Given the description of an element on the screen output the (x, y) to click on. 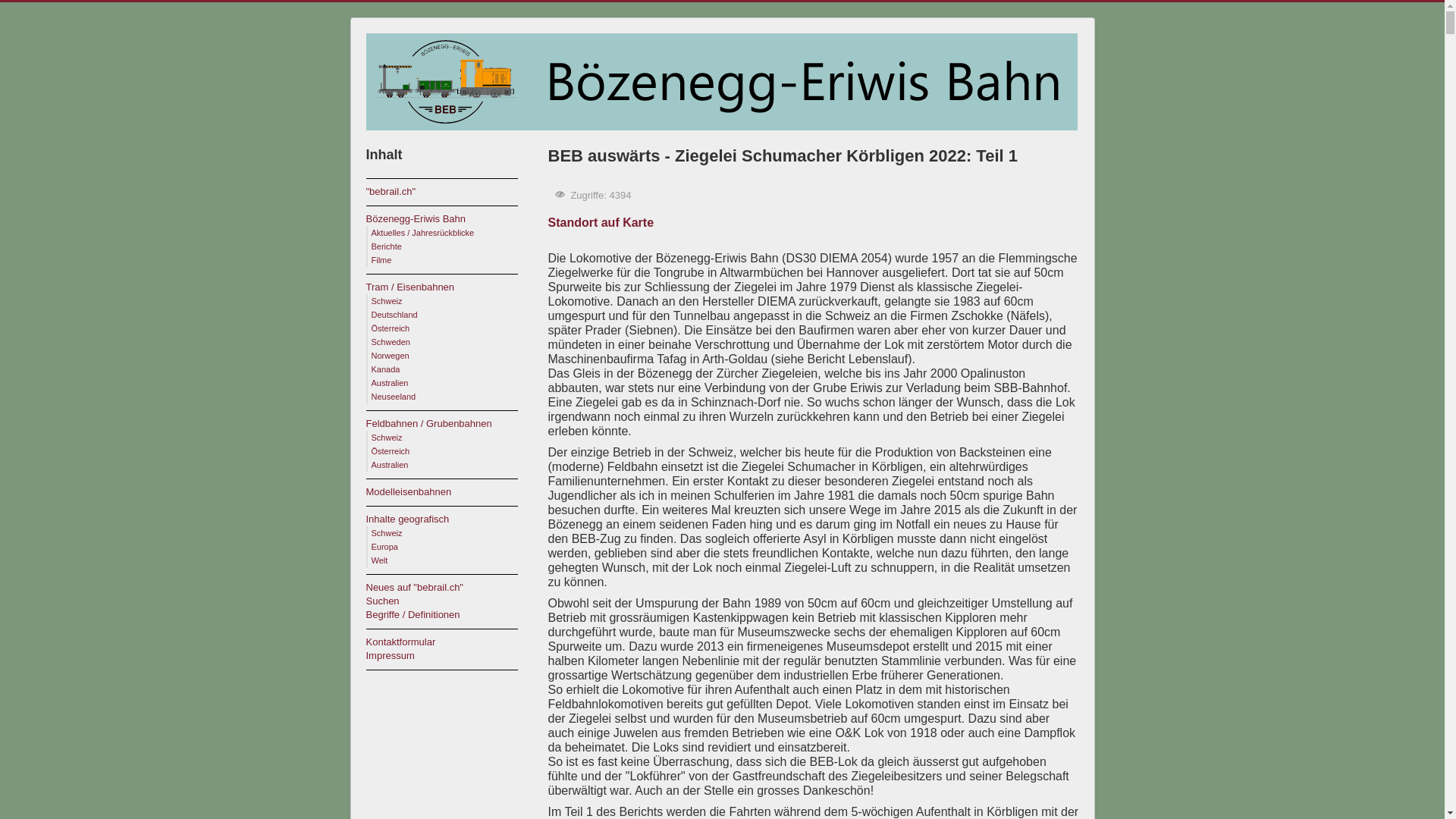
"bebrail.ch" Element type: text (448, 191)
Standort auf Karte Element type: text (600, 222)
Modelleisenbahnen Element type: text (448, 491)
Berichte Element type: text (386, 246)
Neuseeland Element type: text (393, 396)
Deutschland Element type: text (394, 314)
Filme Element type: text (381, 259)
Norwegen Element type: text (390, 355)
Schweden Element type: text (390, 341)
Begriffe / Definitionen Element type: text (448, 614)
Feldbahnen / Grubenbahnen Element type: text (448, 423)
Neues auf "bebrail.ch" Element type: text (448, 587)
Schweiz Element type: text (386, 300)
Australien Element type: text (389, 382)
Welt Element type: text (379, 559)
Impressum Element type: text (448, 655)
Kanada Element type: text (385, 368)
Inhalte geografisch Element type: text (448, 519)
Tram / Eisenbahnen Element type: text (448, 287)
Australien Element type: text (389, 464)
Schweiz Element type: text (386, 437)
Europa Element type: text (384, 546)
Kontaktformular Element type: text (448, 642)
Suchen Element type: text (448, 601)
Schweiz Element type: text (386, 532)
